Given the description of an element on the screen output the (x, y) to click on. 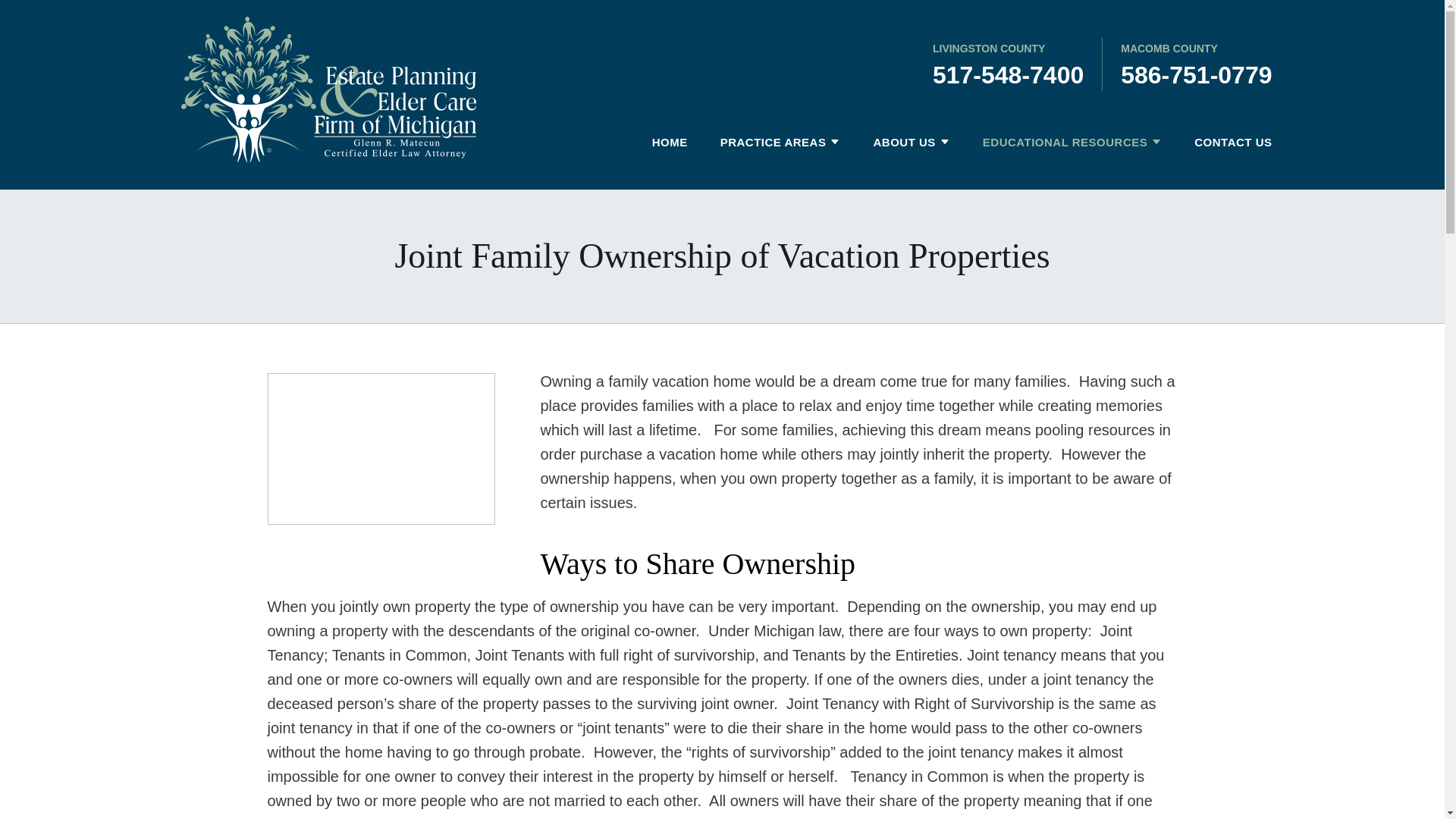
586-751-0779 (1196, 74)
EDUCATIONAL RESOURCES (1057, 142)
517-548-7400 (1008, 74)
call local (1196, 74)
ABOUT US (895, 142)
PRACTICE AREAS (765, 142)
HOME (662, 142)
call local (1008, 74)
CONTACT US (1225, 142)
